Given the description of an element on the screen output the (x, y) to click on. 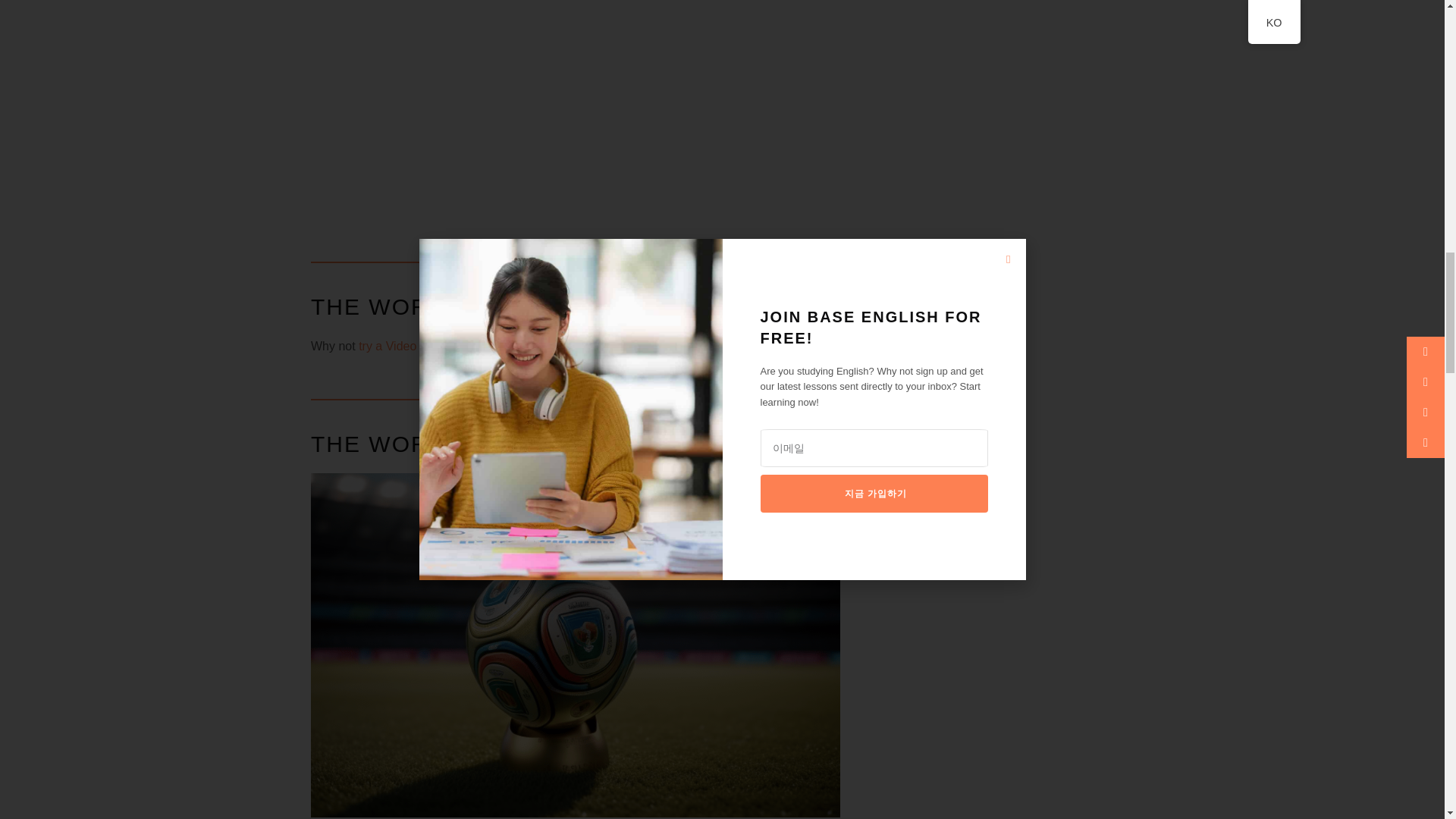
try a Video Gap Fill assignment (442, 345)
